Given the description of an element on the screen output the (x, y) to click on. 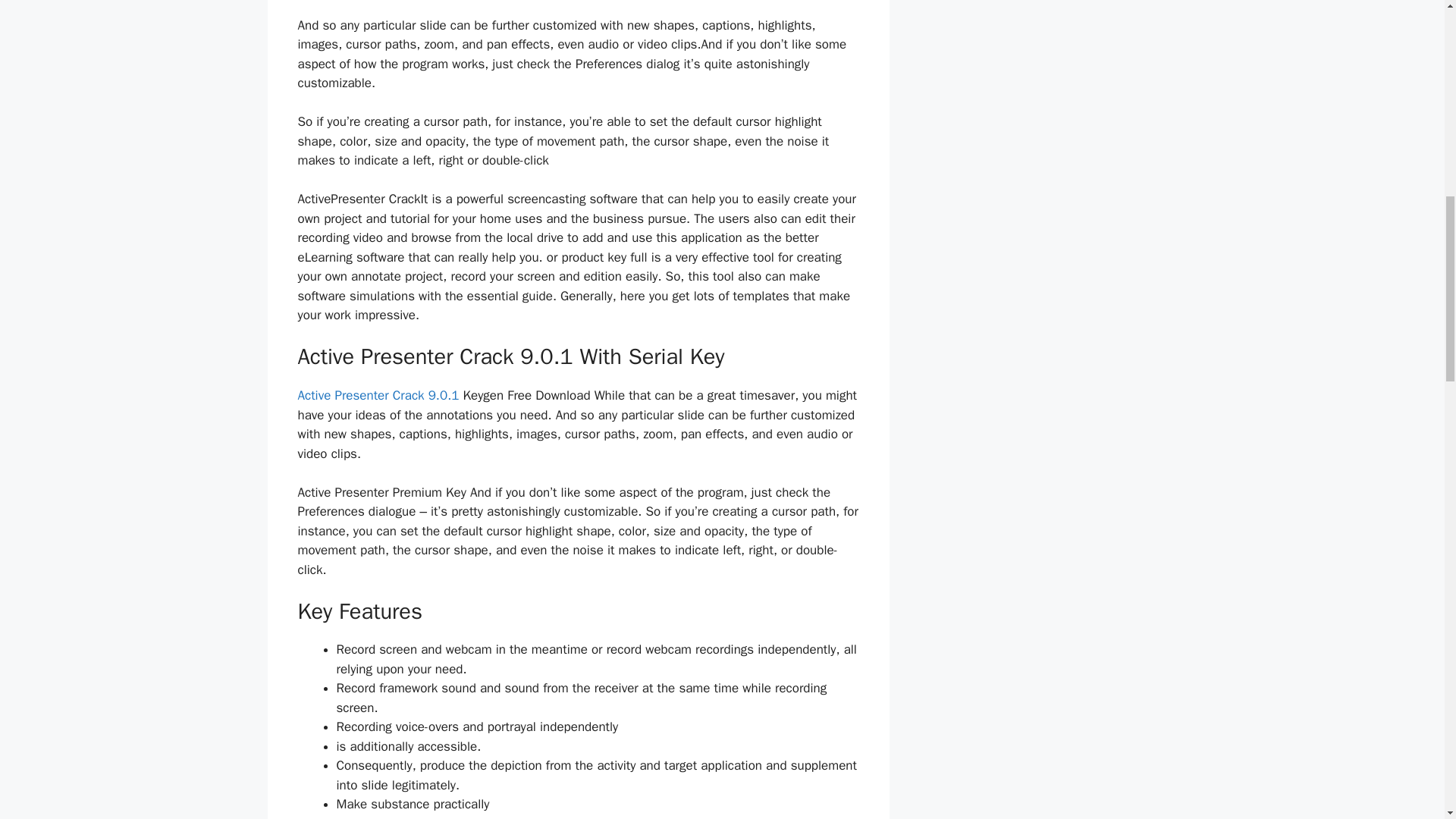
Active Presenter Crack 9.0.1 (377, 395)
